Given the description of an element on the screen output the (x, y) to click on. 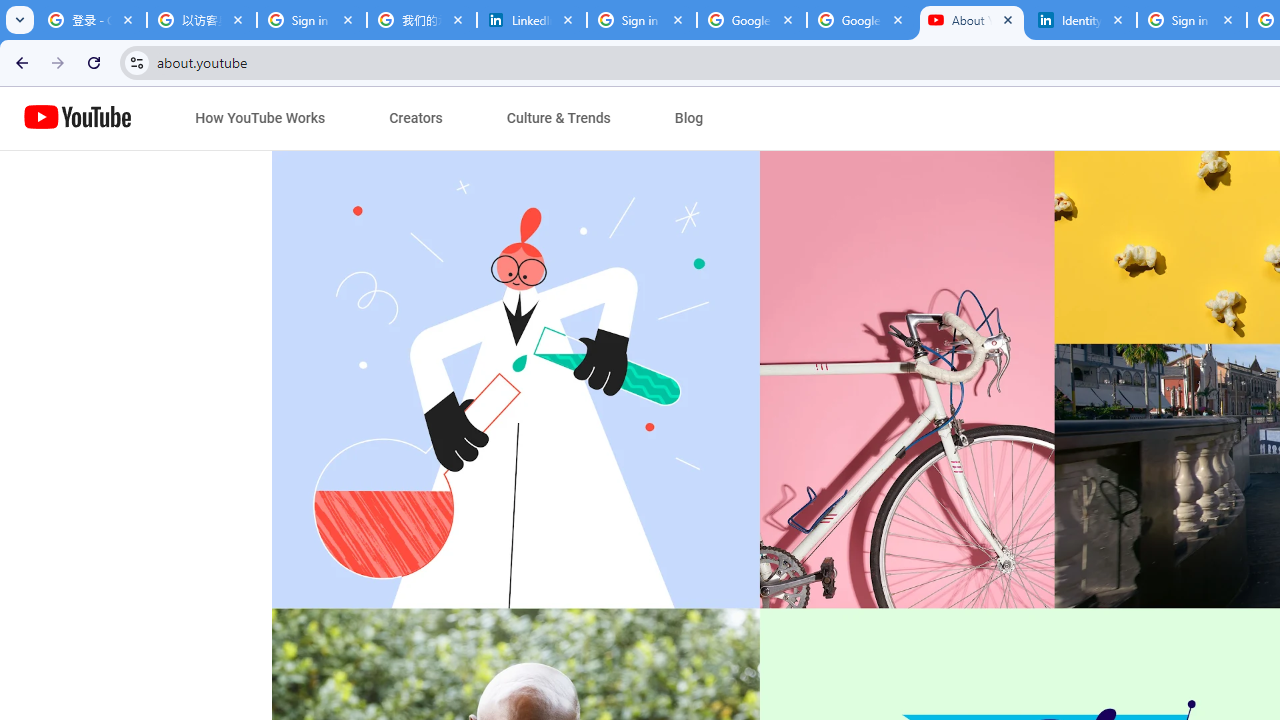
About YouTube - YouTube (971, 20)
Creators (415, 118)
Jump to content (186, 119)
How YouTube Works (260, 118)
Sign in - Google Accounts (312, 20)
Blog (689, 118)
